Given the description of an element on the screen output the (x, y) to click on. 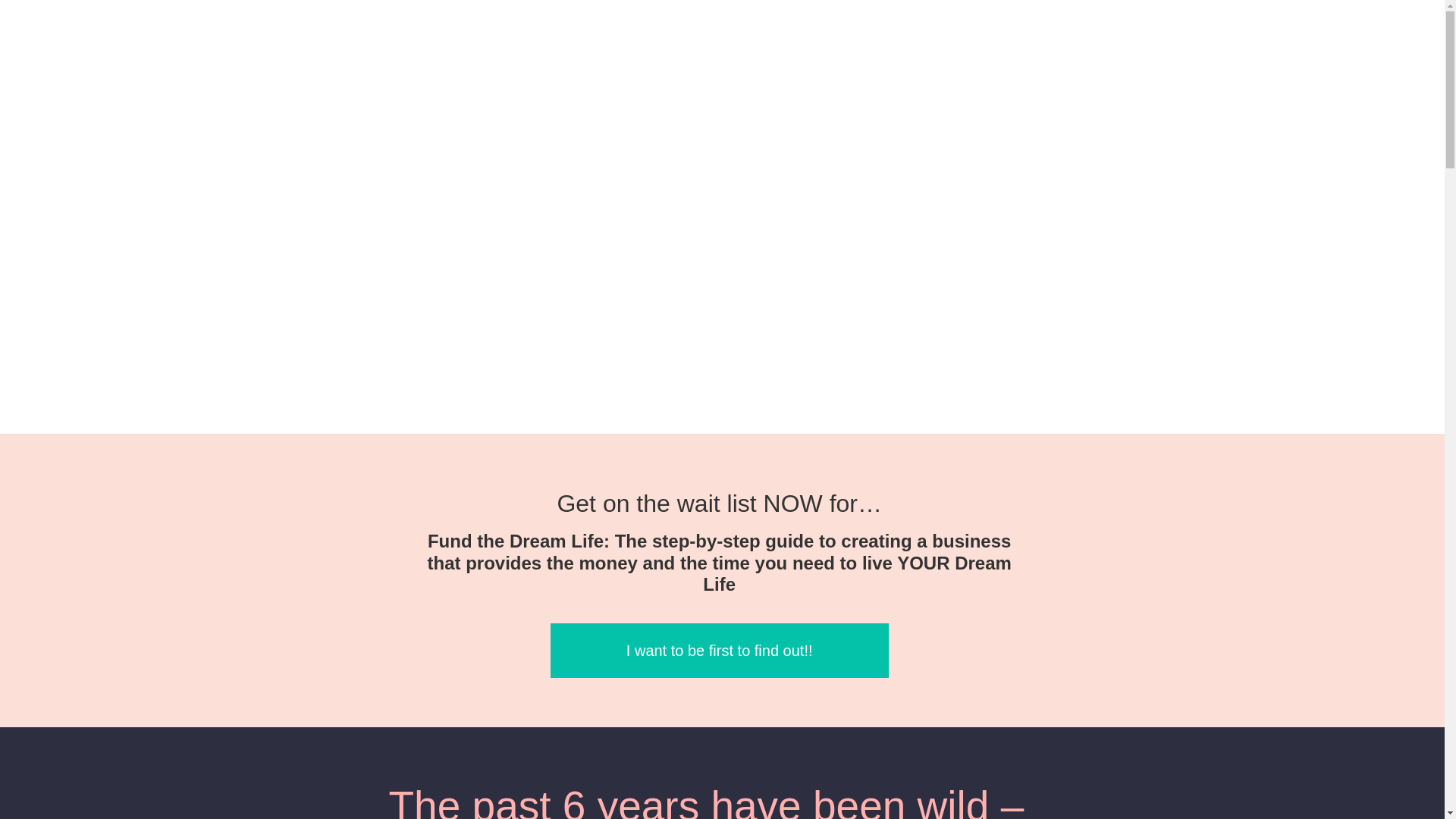
I want to be first to find out!! (719, 650)
